Given the description of an element on the screen output the (x, y) to click on. 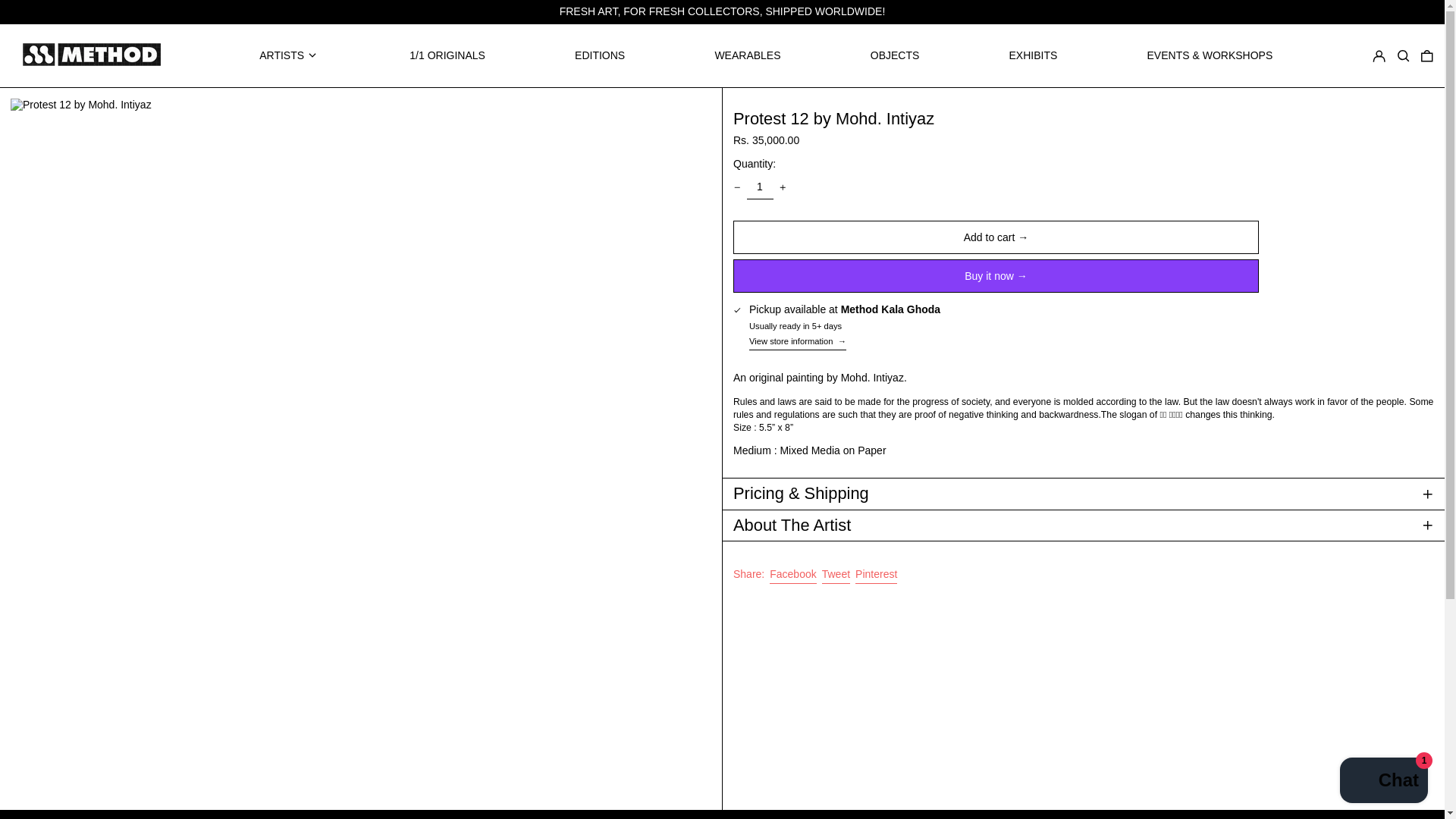
Page 9 (1083, 413)
1 (759, 187)
Shopify online store chat (1383, 781)
